Given the description of an element on the screen output the (x, y) to click on. 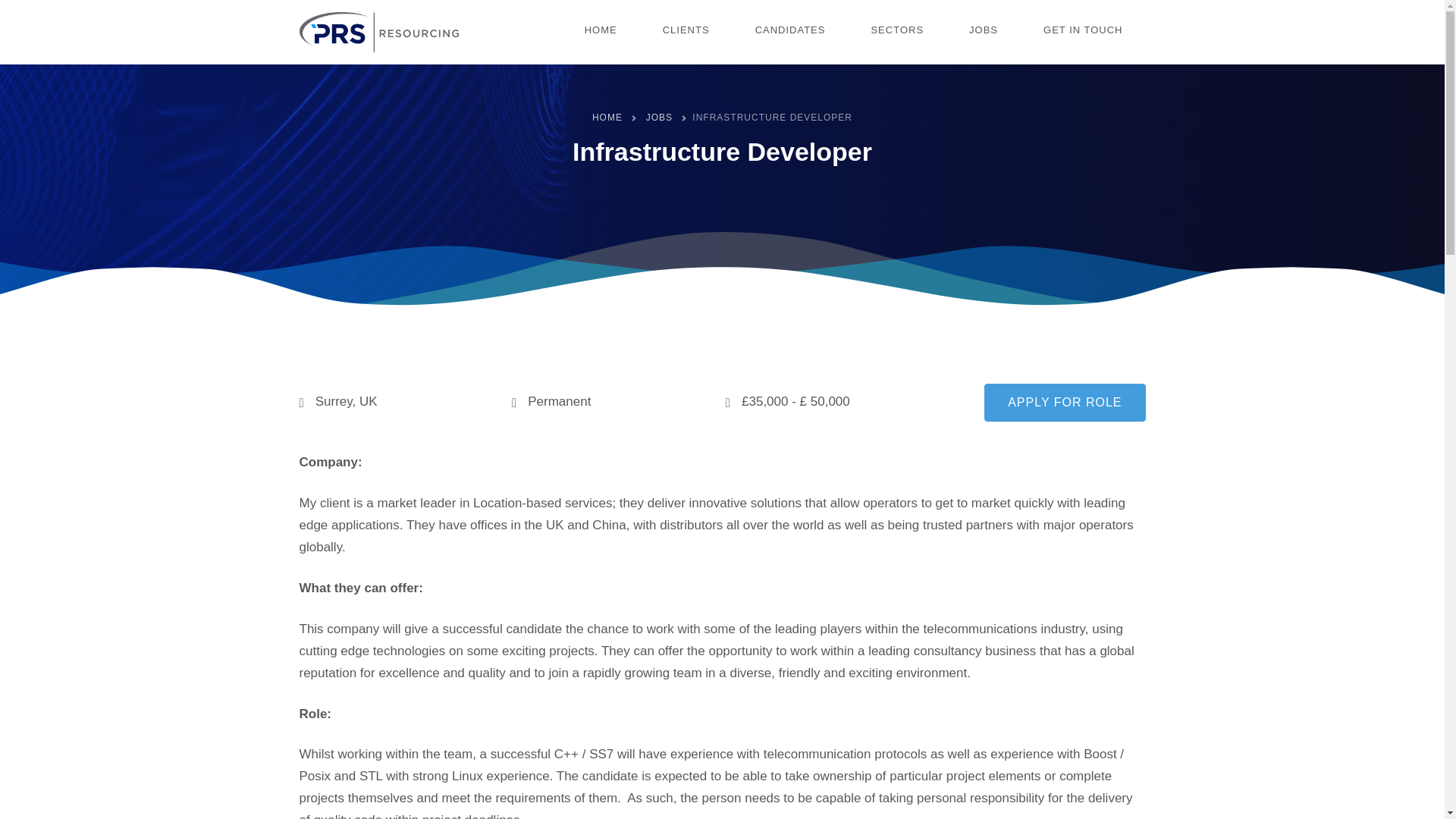
APPLY FOR ROLE (1064, 402)
CANDIDATES (790, 31)
JOBS (659, 117)
PRS Resourcing (378, 32)
HOME (601, 31)
CLIENTS (686, 31)
HOME (607, 117)
GET IN TOUCH (1082, 31)
JOBS (983, 31)
SECTORS (896, 31)
